Given the description of an element on the screen output the (x, y) to click on. 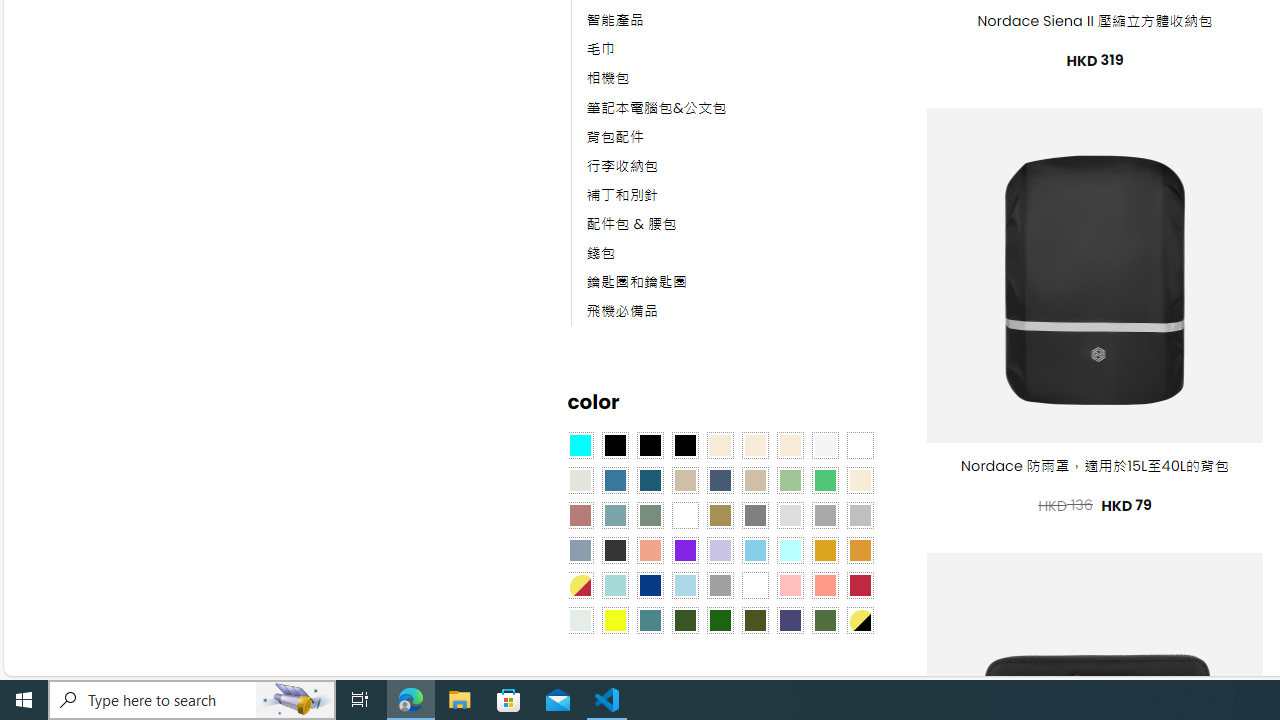
Dull Nickle (579, 619)
